Given the description of an element on the screen output the (x, y) to click on. 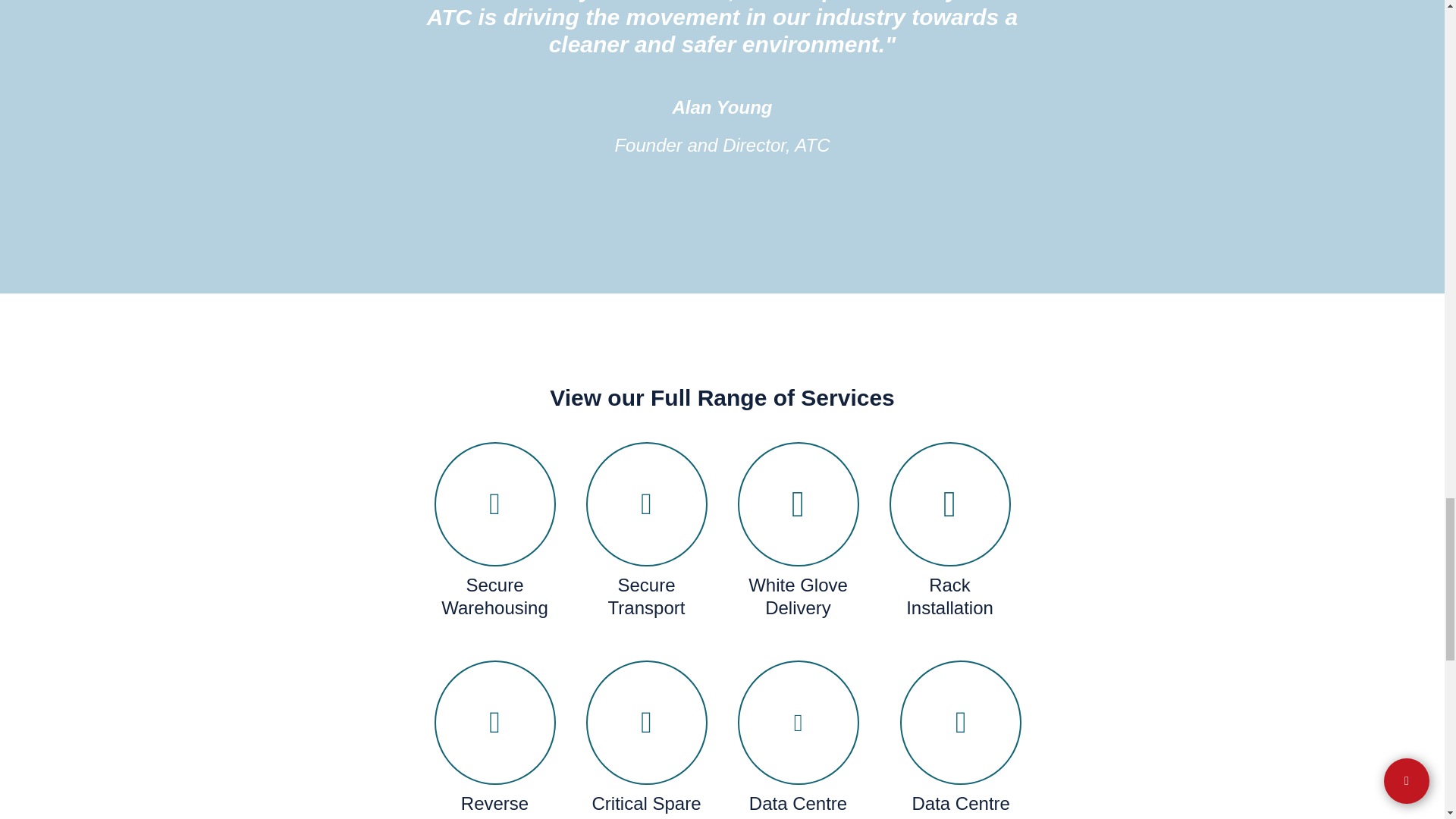
Reverse Logistics (493, 805)
Critical Spare Parts (645, 805)
Secure Transport (645, 596)
Secure Warehousing (493, 596)
Rack Installation (949, 596)
White Glove Delivery (797, 596)
